Given the description of an element on the screen output the (x, y) to click on. 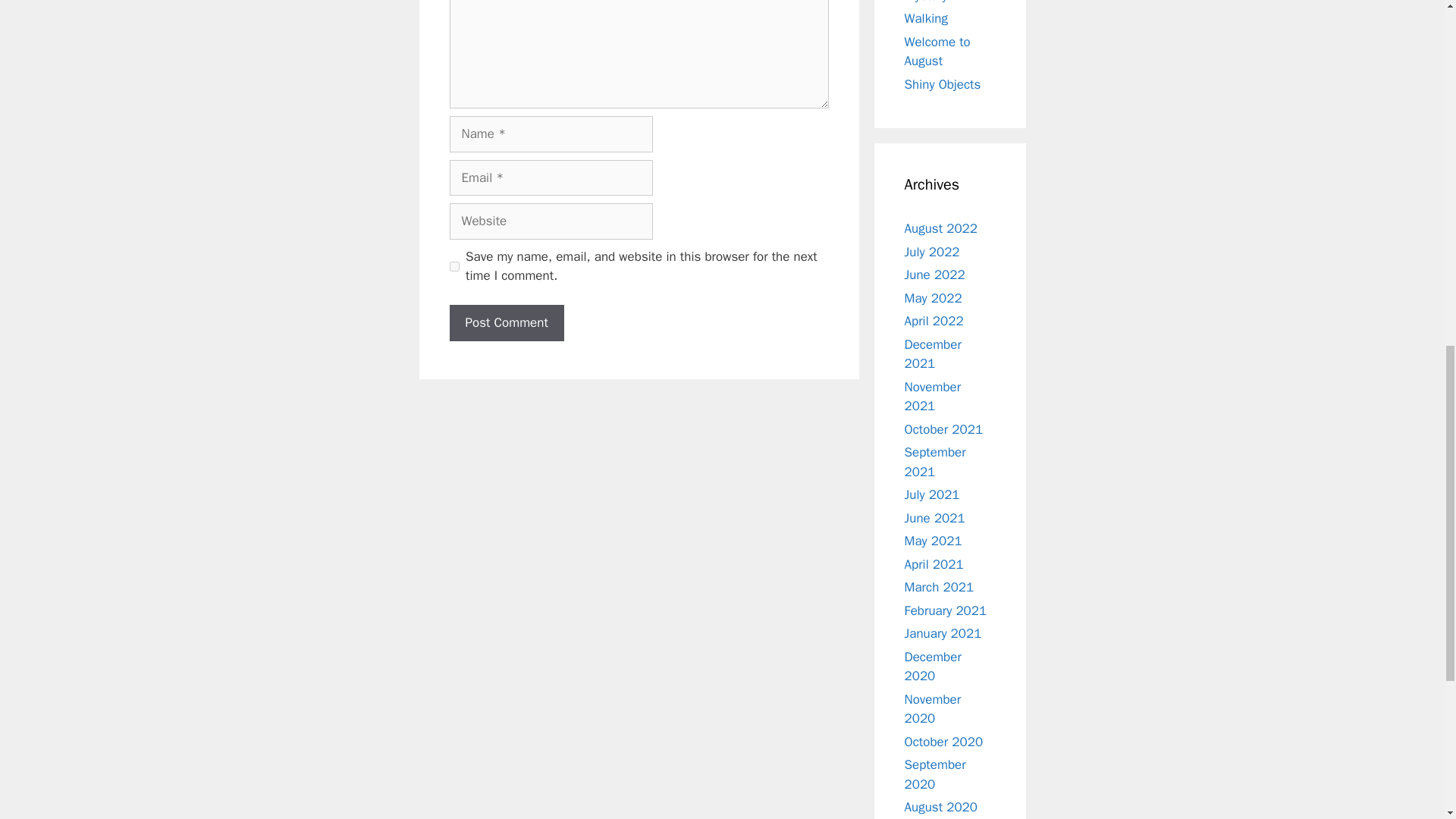
July 2022 (931, 252)
October 2021 (943, 429)
November 2021 (932, 396)
December 2021 (932, 354)
yes (453, 266)
June 2021 (933, 517)
Scroll back to top (1406, 720)
April 2021 (933, 564)
June 2022 (933, 274)
February 2021 (945, 609)
